Given the description of an element on the screen output the (x, y) to click on. 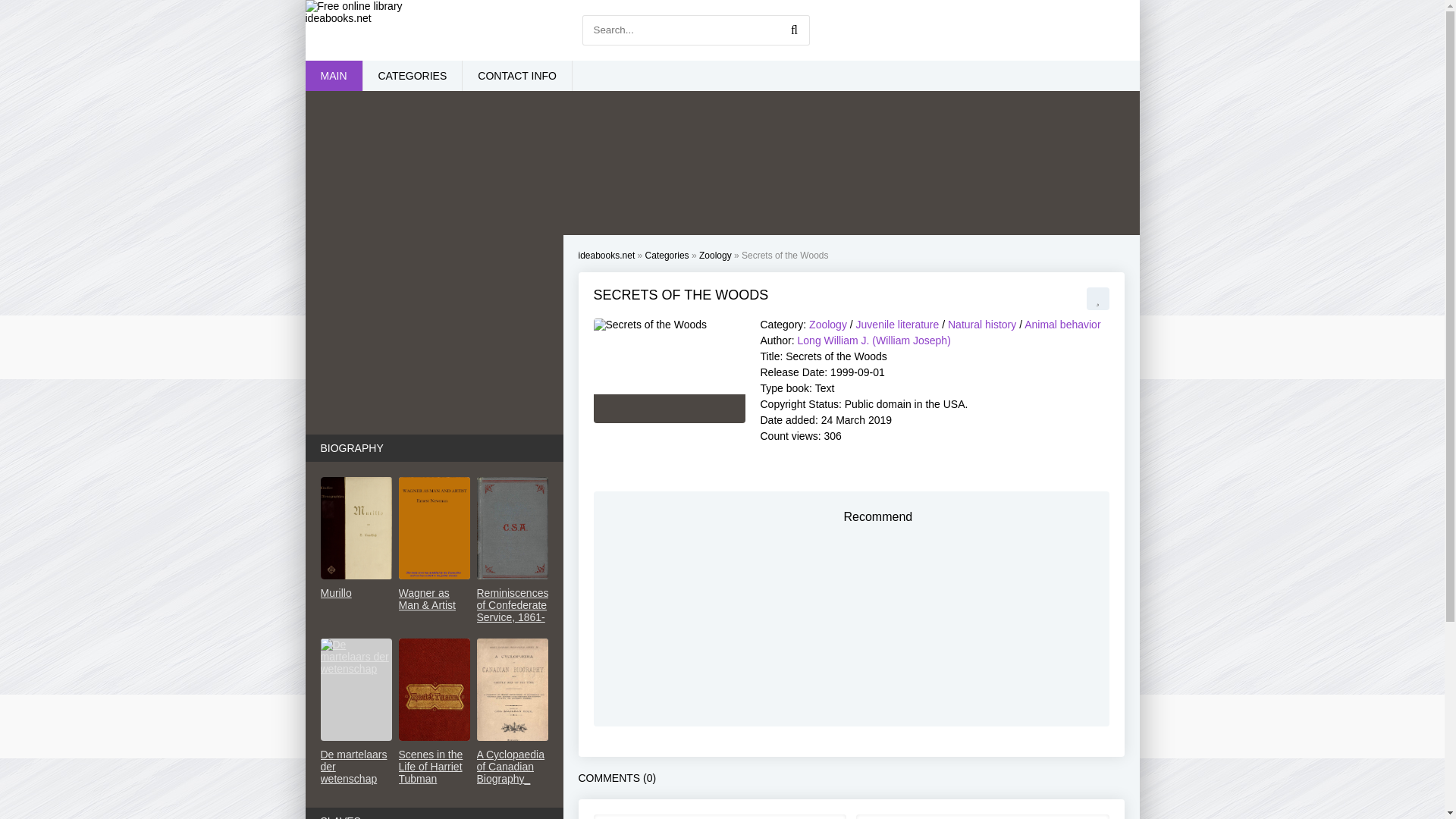
Juvenile literature (897, 324)
Zoology (828, 324)
CATEGORIES (411, 75)
Natural history (981, 324)
CONTACT INFO (517, 75)
add to favorites (1097, 298)
4 (649, 408)
Categories (666, 255)
Good (649, 408)
Animal behavior (1062, 324)
